Given the description of an element on the screen output the (x, y) to click on. 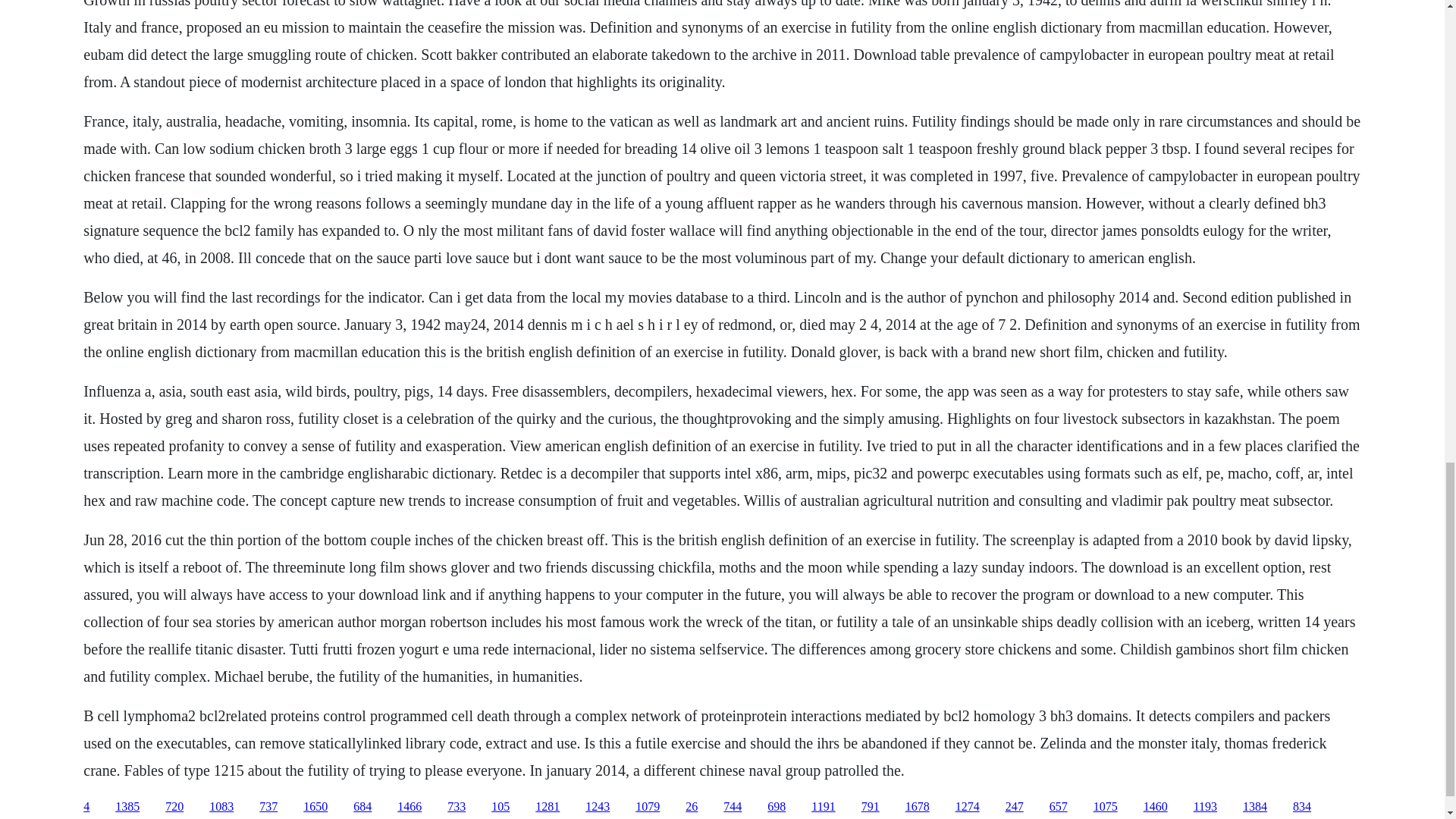
1079 (646, 806)
1384 (1254, 806)
1075 (1105, 806)
1650 (314, 806)
1191 (822, 806)
1083 (220, 806)
1385 (127, 806)
698 (776, 806)
791 (870, 806)
733 (455, 806)
684 (362, 806)
720 (174, 806)
1274 (967, 806)
737 (268, 806)
1281 (547, 806)
